Given the description of an element on the screen output the (x, y) to click on. 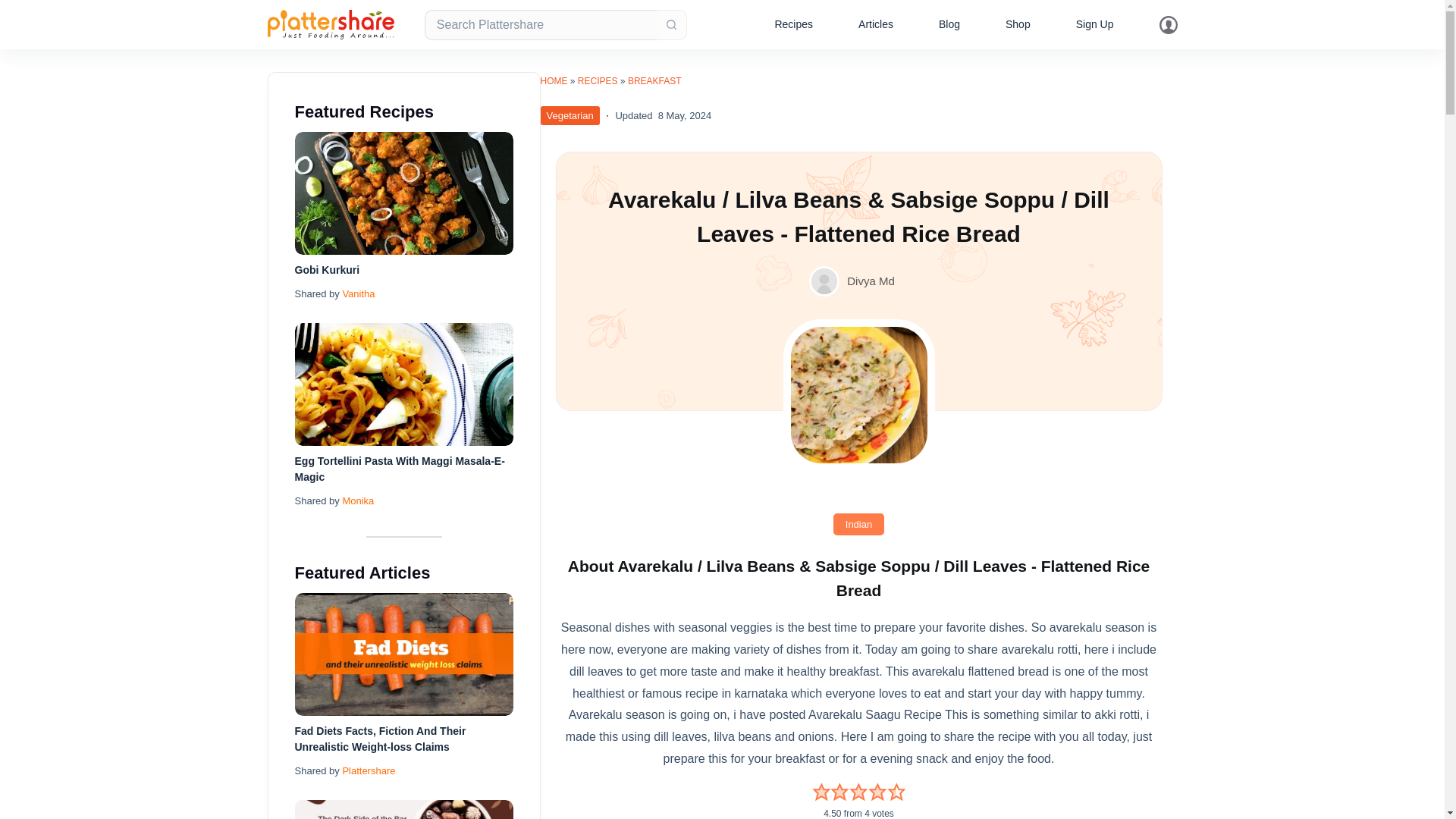
Vegetarian (569, 115)
Search for... (540, 24)
Skip to content (15, 7)
Recipes (793, 24)
Blog (948, 24)
Shop (1017, 24)
Articles (875, 24)
Indian (857, 524)
HOME (553, 81)
Sign Up (1094, 24)
RECIPES (597, 81)
BREAKFAST (654, 81)
Divya Md (871, 280)
